Given the description of an element on the screen output the (x, y) to click on. 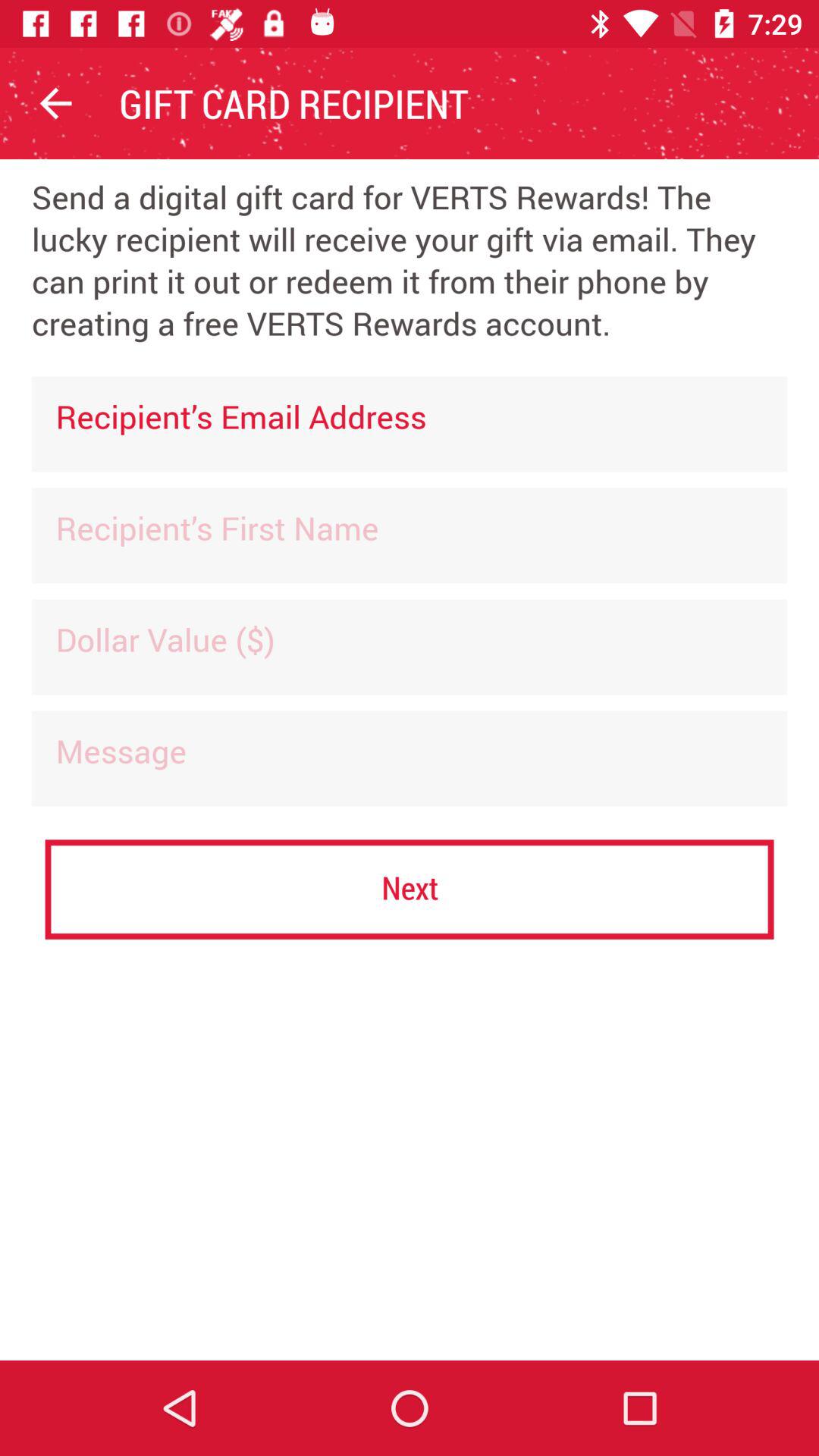
flip to the next item (409, 889)
